Given the description of an element on the screen output the (x, y) to click on. 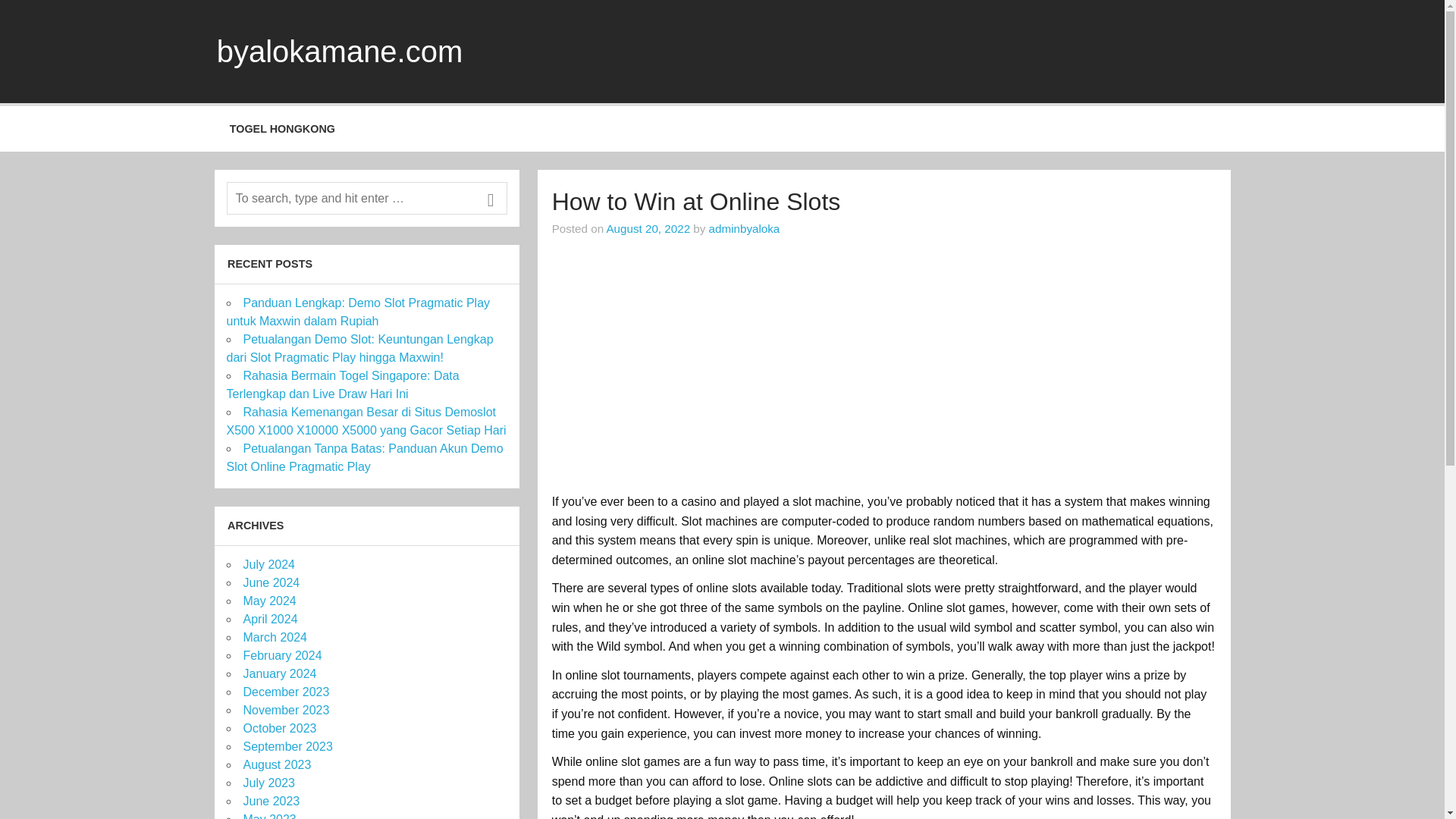
October 2023 (279, 727)
August 20, 2022 (647, 228)
July 2024 (269, 563)
December 2023 (286, 691)
June 2024 (271, 582)
August 2023 (277, 764)
September 2023 (287, 746)
TOGEL HONGKONG (282, 128)
May 2023 (269, 816)
May 2024 (269, 600)
9:52 pm (647, 228)
November 2023 (286, 709)
